Given the description of an element on the screen output the (x, y) to click on. 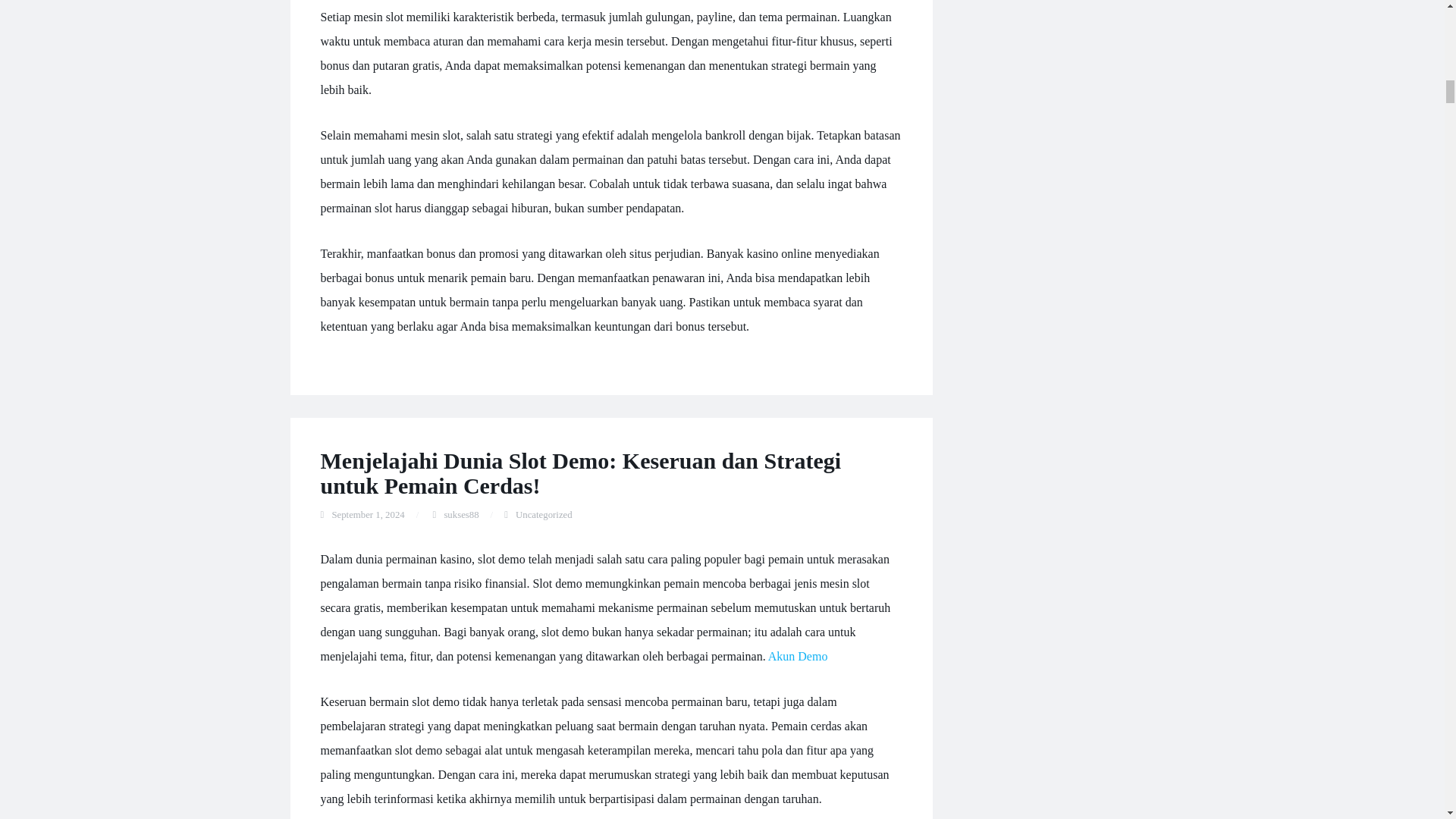
September 1, 2024 (367, 514)
Akun Demo (798, 656)
sukses88 (461, 514)
Uncategorized (543, 514)
